Given the description of an element on the screen output the (x, y) to click on. 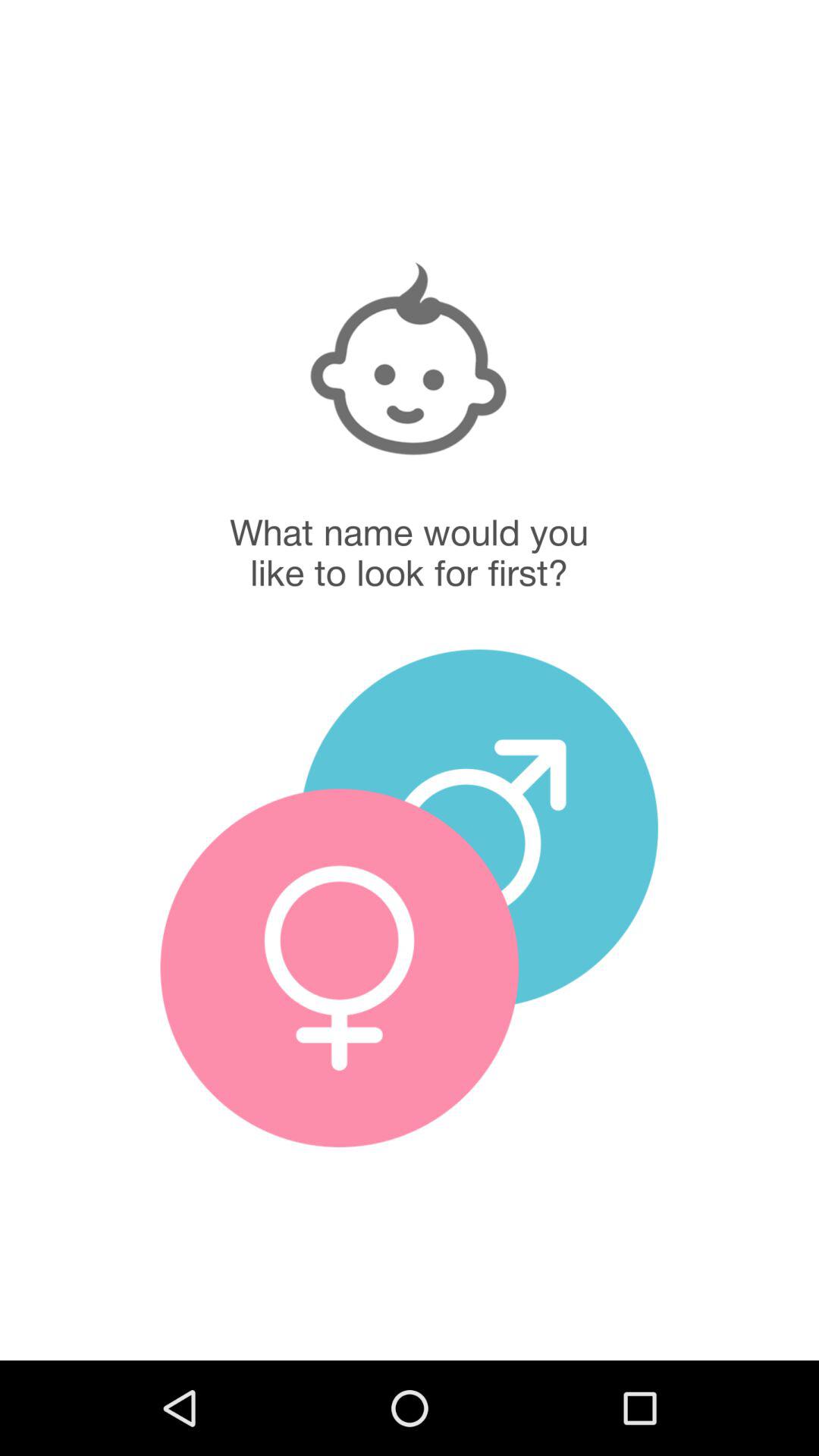
select girl (339, 967)
